Given the description of an element on the screen output the (x, y) to click on. 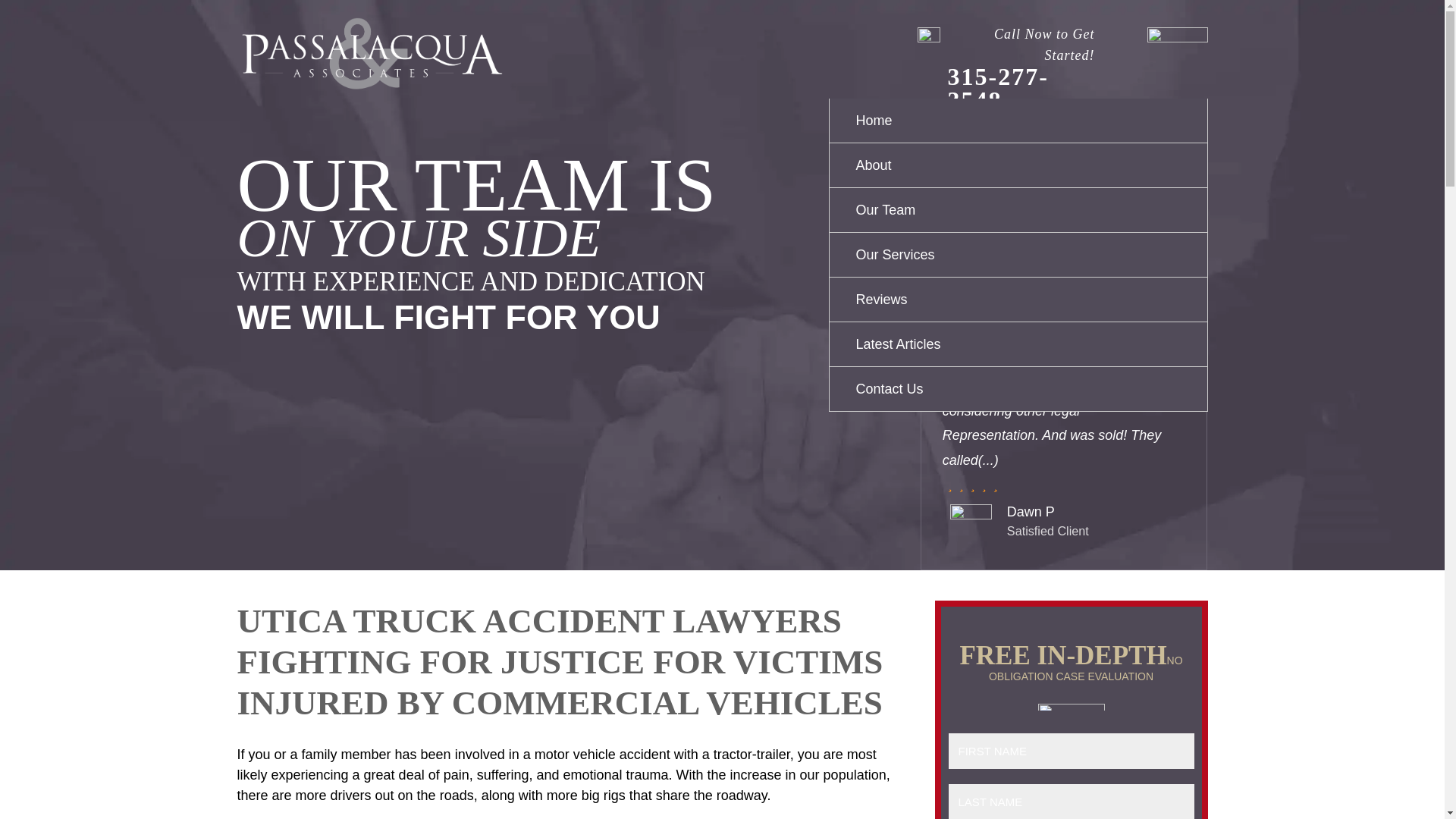
315-277-3548 (997, 88)
Our Team (1017, 210)
Home (1017, 120)
Our Services (1017, 254)
About (1017, 165)
